Given the description of an element on the screen output the (x, y) to click on. 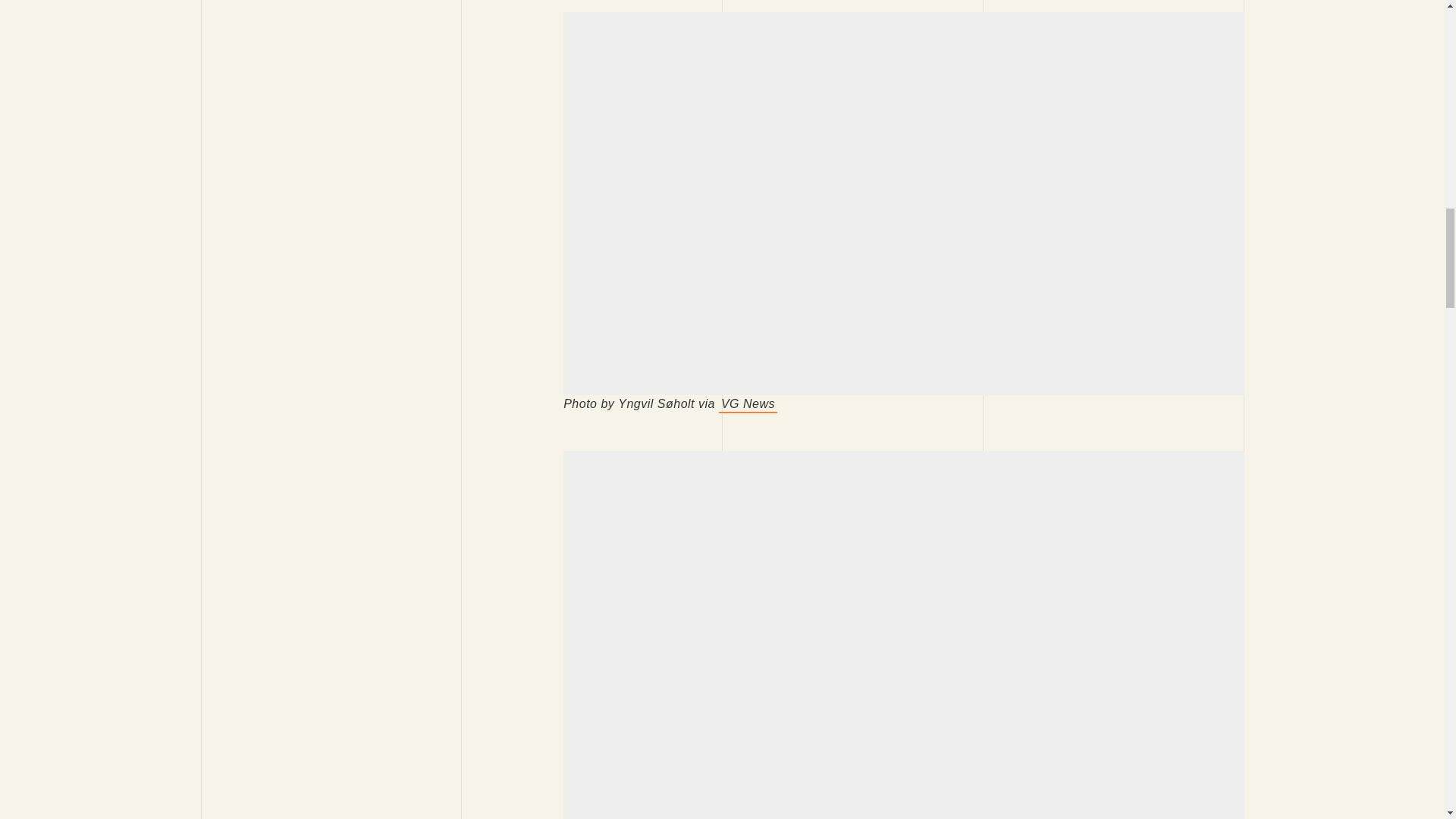
VG News (748, 404)
